Given the description of an element on the screen output the (x, y) to click on. 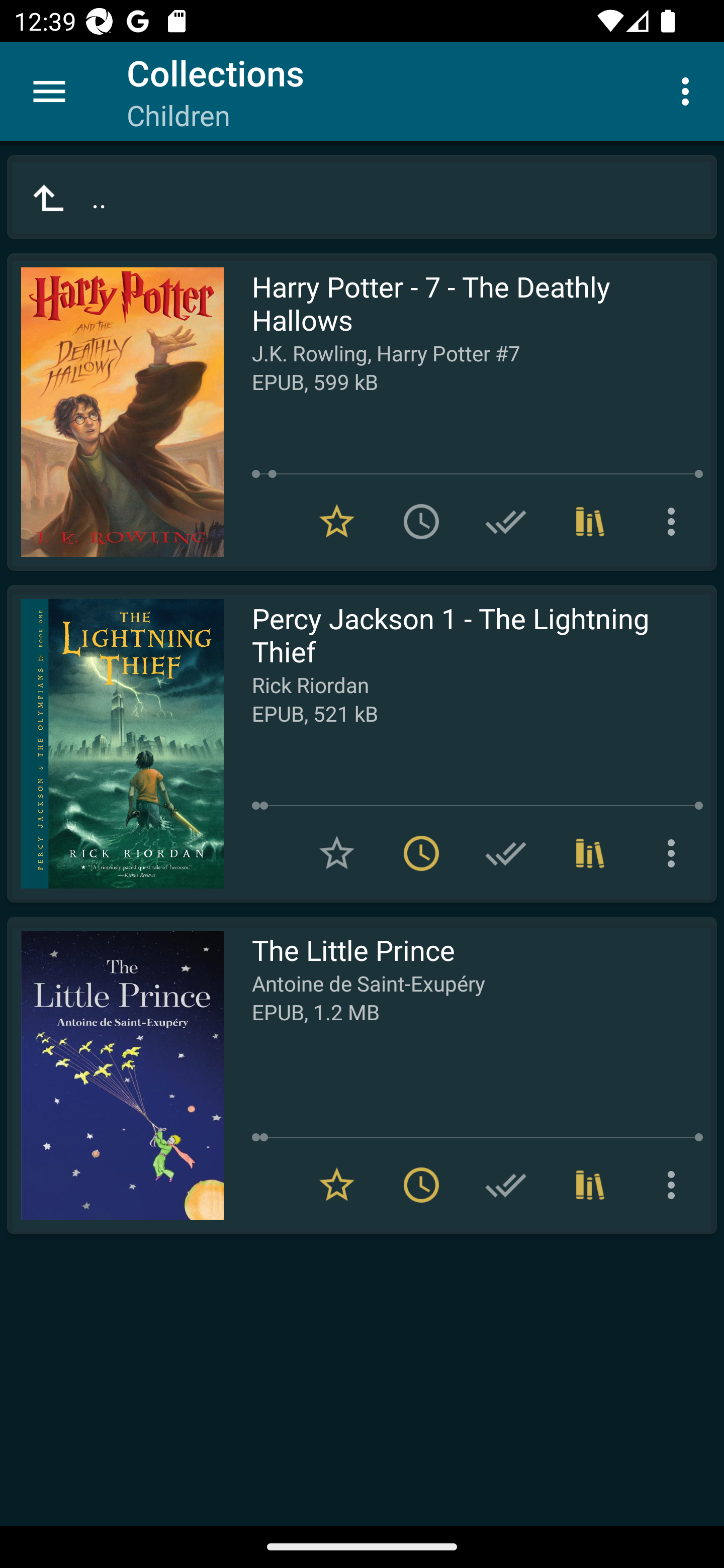
Menu (49, 91)
More options (688, 90)
.. (361, 197)
Read Harry Potter - 7 - The Deathly Hallows (115, 412)
Remove from Favorites (336, 521)
Add to To read (421, 521)
Add to Have read (505, 521)
Collections (3) (590, 521)
More options (674, 521)
Read Percy Jackson 1 - The Lightning Thief (115, 743)
Add to Favorites (336, 852)
Remove from To read (421, 852)
Add to Have read (505, 852)
Collections (1) (590, 852)
More options (674, 852)
Read The Little Prince (115, 1075)
Remove from Favorites (336, 1185)
